Given the description of an element on the screen output the (x, y) to click on. 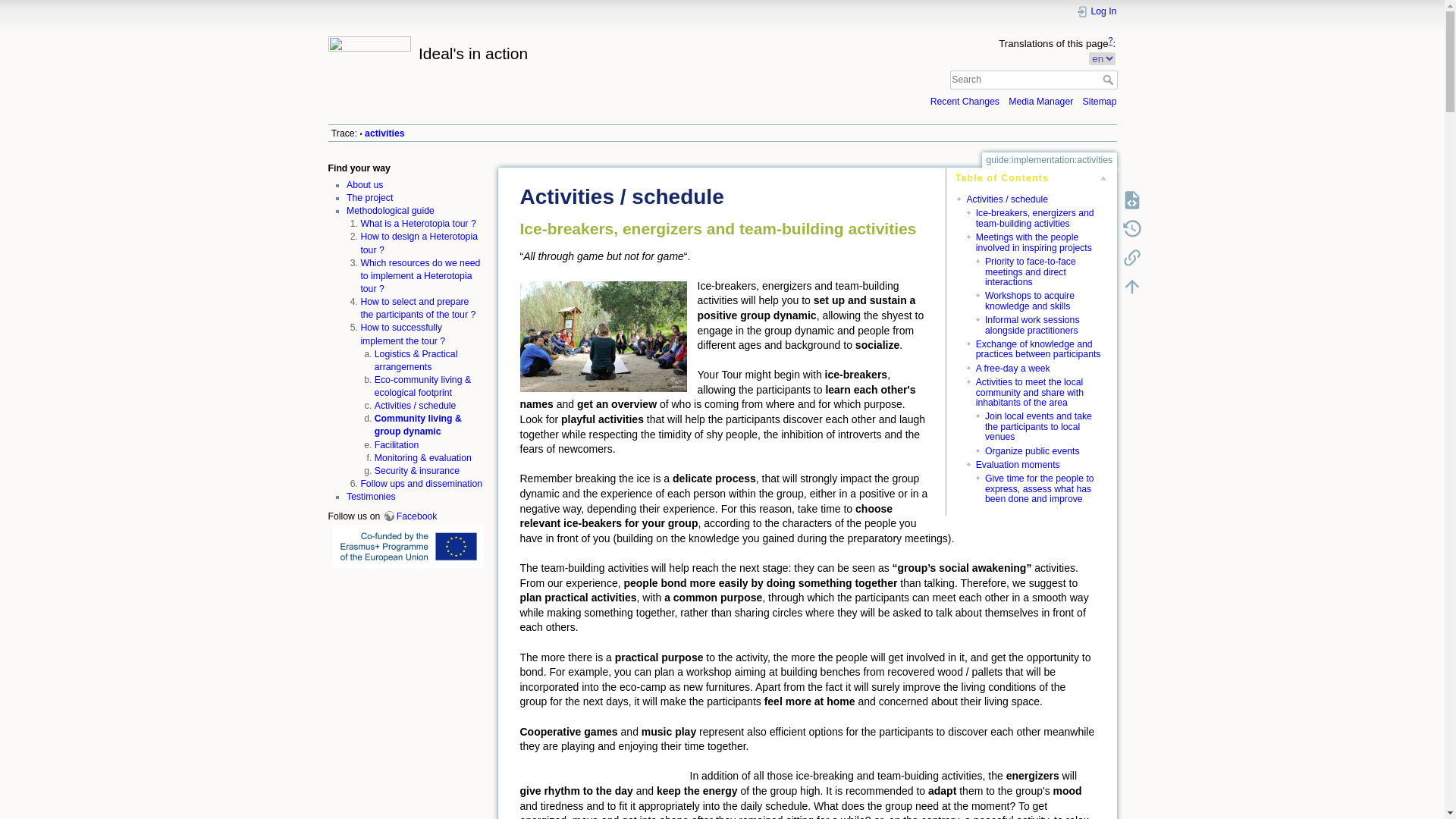
Facilitation (396, 444)
Meetings with the people involved in inspiring projects (1033, 241)
The project (369, 197)
How to successfully implement the tour ? (402, 333)
Facebook (410, 516)
Ice-breakers, energizers and team-building activities (1034, 218)
About us (364, 184)
Log In (1095, 11)
How to design a Heterotopia tour ? (418, 242)
Search (1109, 79)
